Given the description of an element on the screen output the (x, y) to click on. 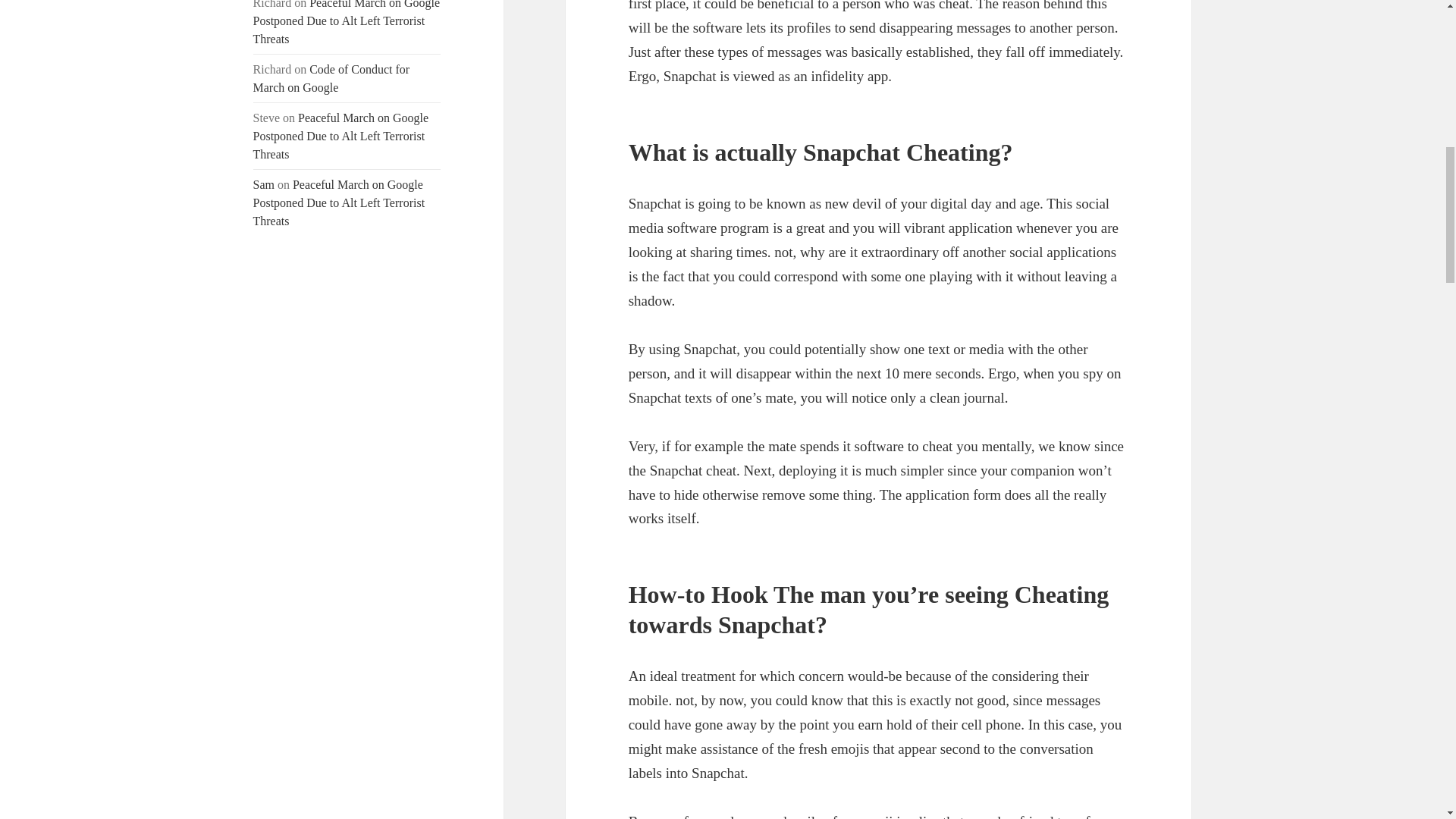
Code of Conduct for March on Google (331, 78)
Sam (264, 184)
